Given the description of an element on the screen output the (x, y) to click on. 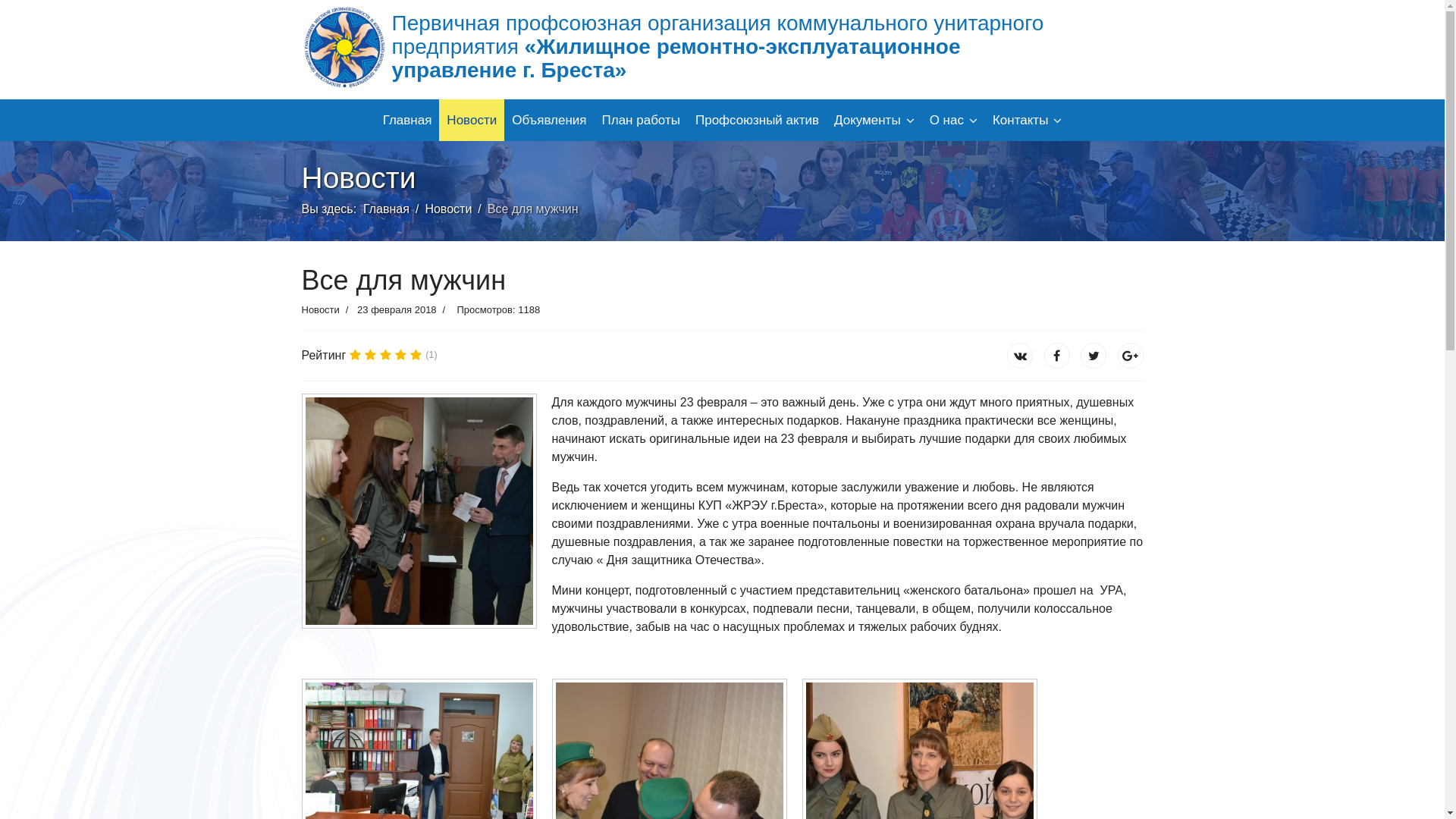
Twitter Element type: hover (1093, 355)
Google Plus Element type: hover (1130, 355)
Vkontakte Element type: hover (1057, 355)
Facebook Element type: hover (1019, 355)
